Given the description of an element on the screen output the (x, y) to click on. 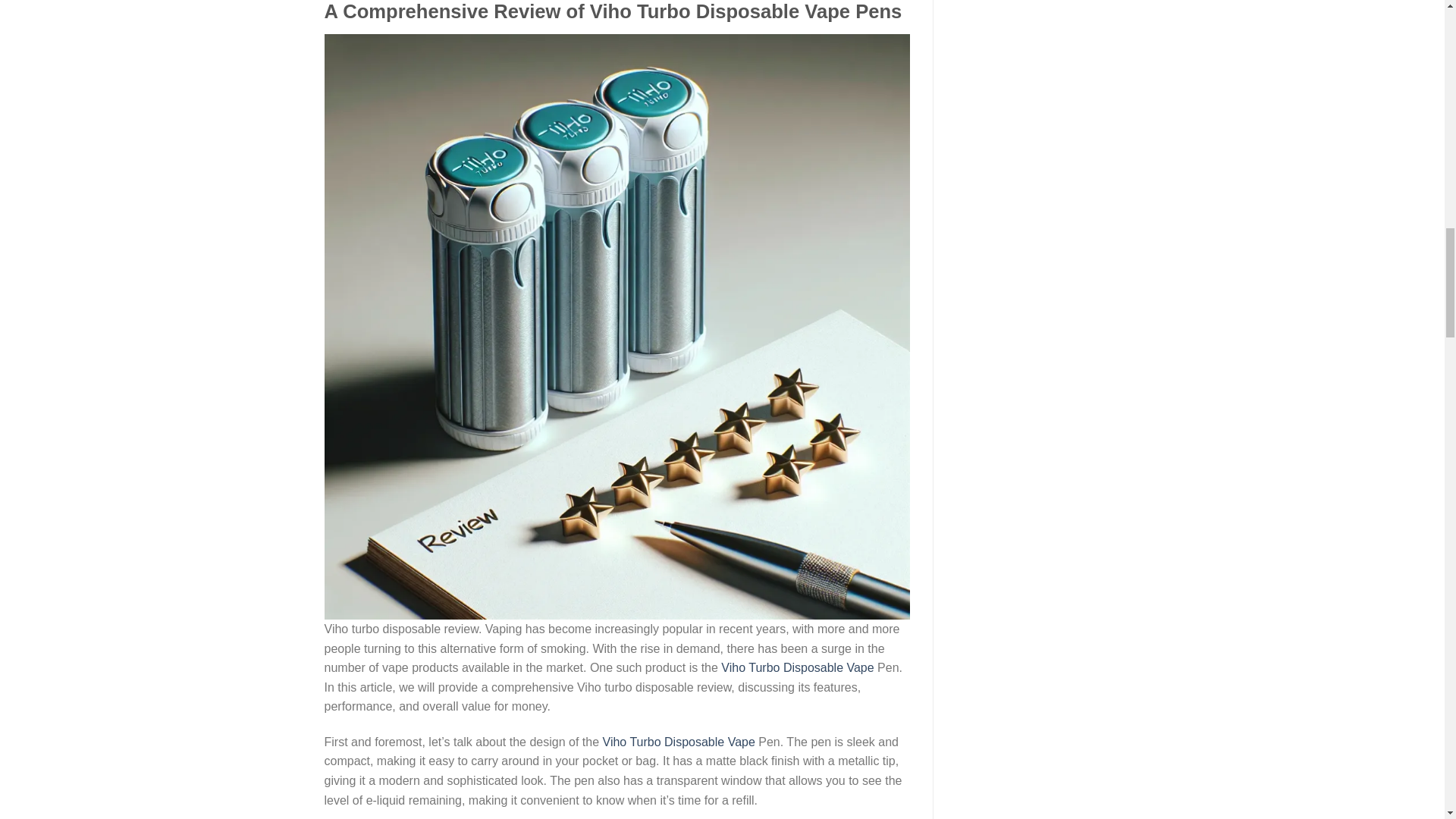
Viho Turbo Disposable Vape (796, 667)
Viho Turbo Disposable Vape (678, 741)
